Given the description of an element on the screen output the (x, y) to click on. 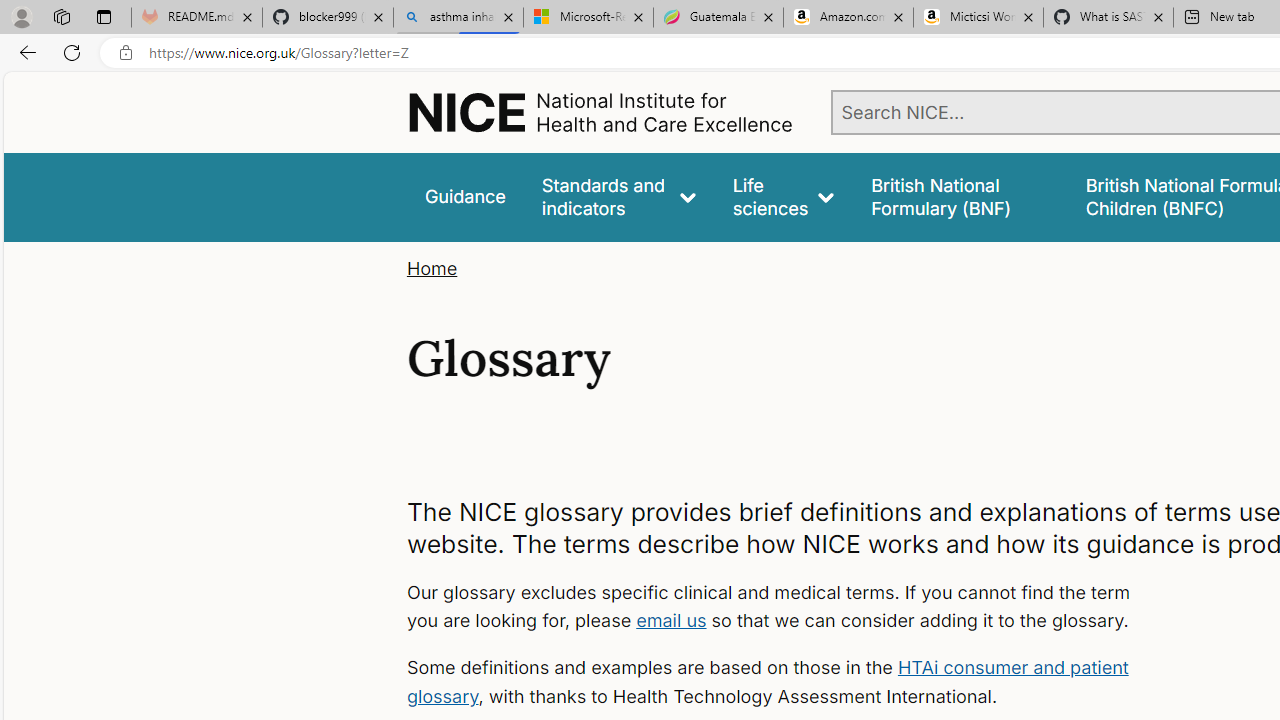
email us (671, 620)
false (959, 196)
